Given the description of an element on the screen output the (x, y) to click on. 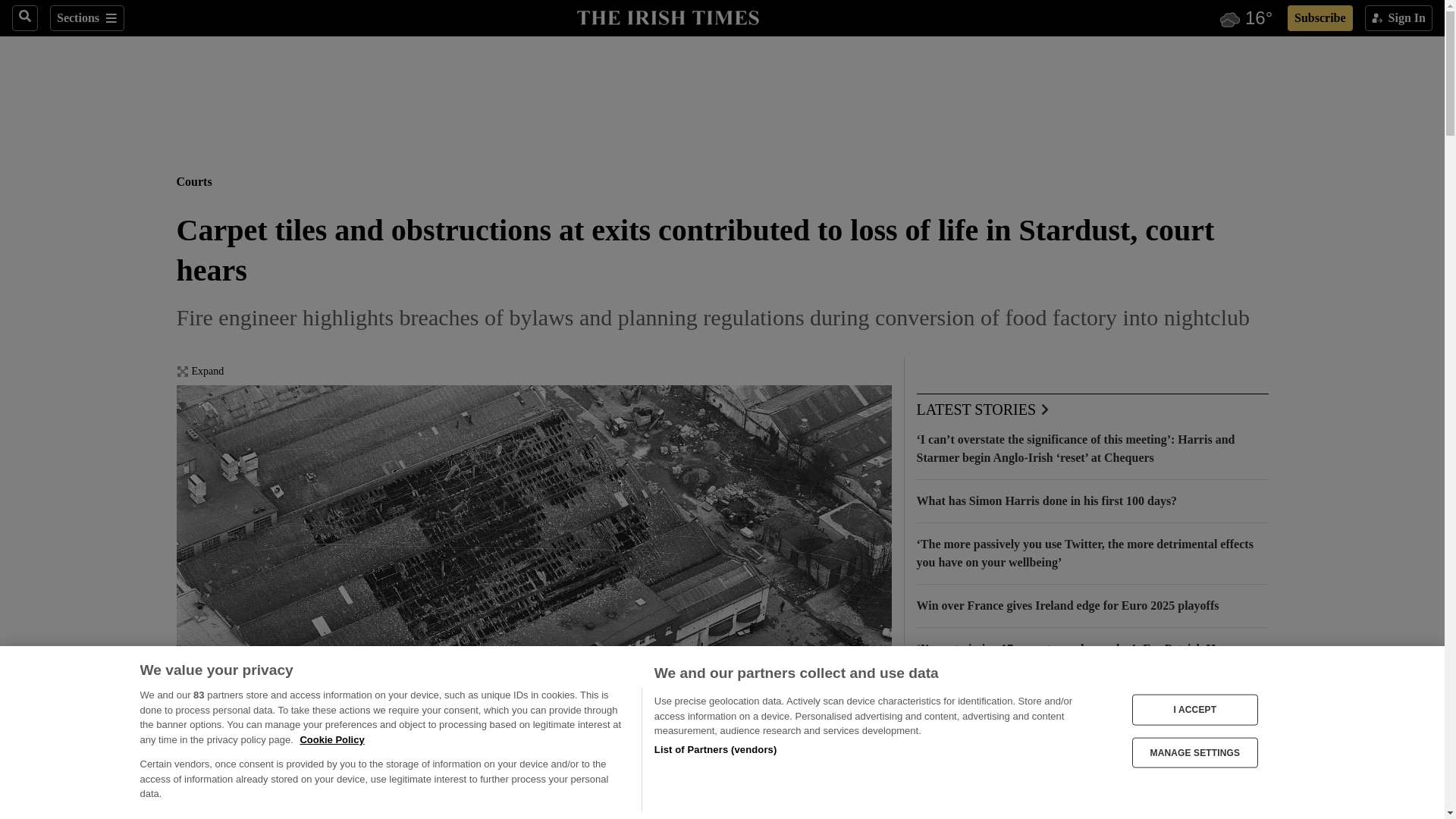
Sections (86, 17)
Sign In (1398, 17)
The Irish Times (667, 16)
Subscribe (1319, 17)
